Given the description of an element on the screen output the (x, y) to click on. 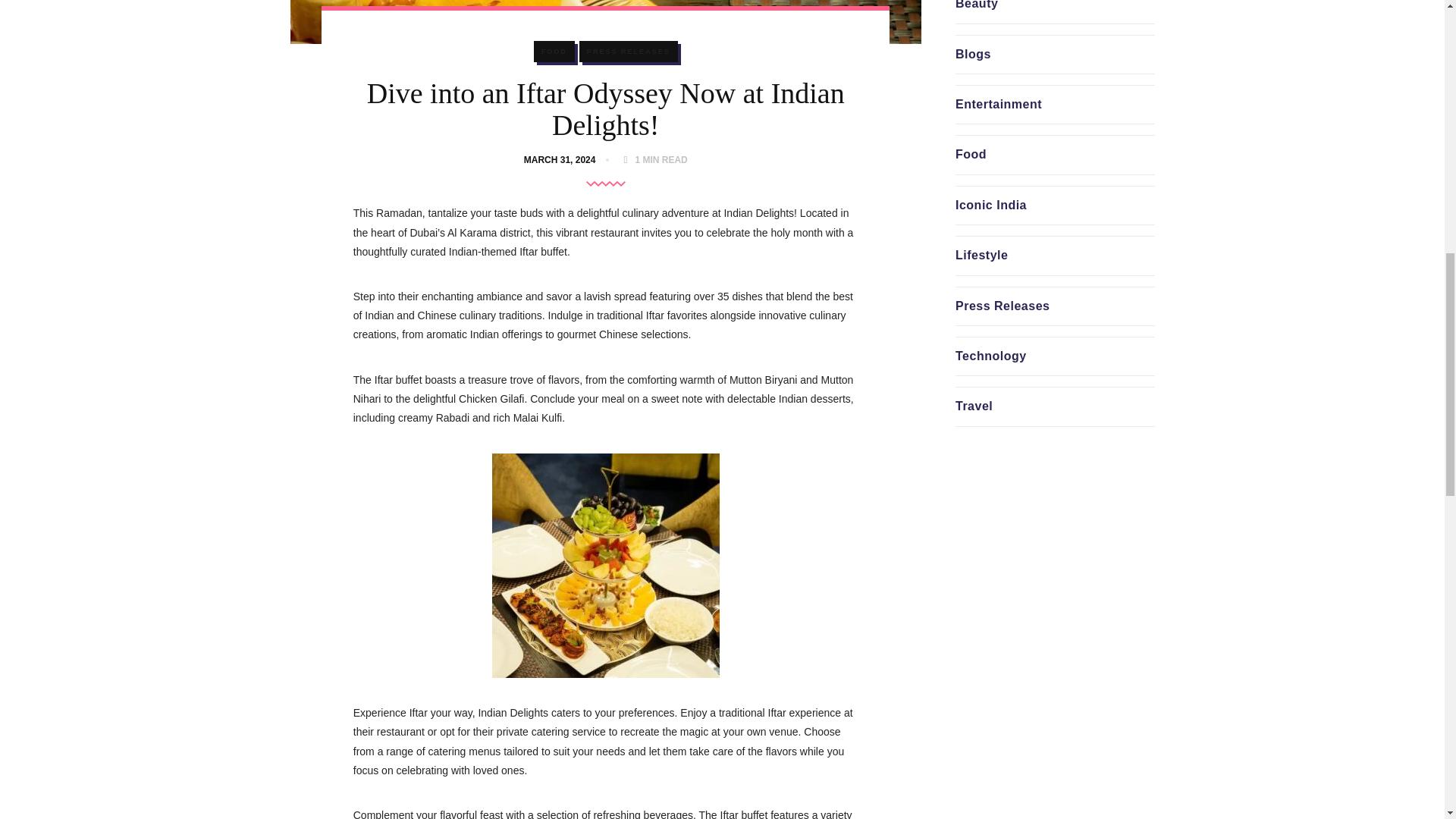
MARCH 31, 2024 (562, 159)
FOOD (554, 51)
PRESS RELEASES (628, 51)
